Given the description of an element on the screen output the (x, y) to click on. 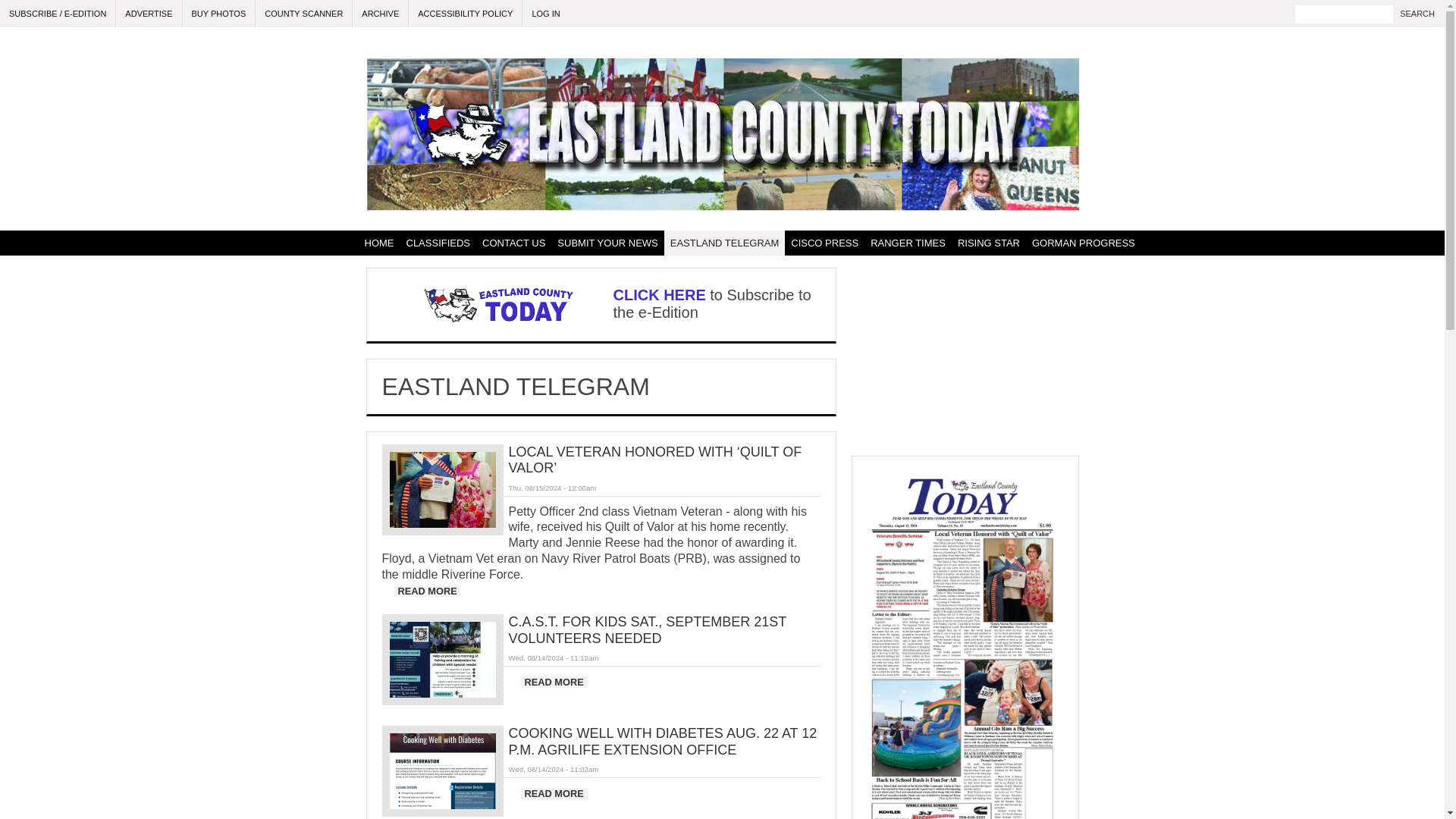
Americans with Disabilities Act Compliance Statement (465, 13)
RANGER TIMES (908, 242)
LOG IN (545, 13)
COUNTY SCANNER (304, 13)
EASTLAND TELEGRAM (724, 242)
ARCHIVE (380, 13)
RISING STAR (989, 242)
Eastland Telegram (724, 242)
CONTACT US (513, 242)
